Given the description of an element on the screen output the (x, y) to click on. 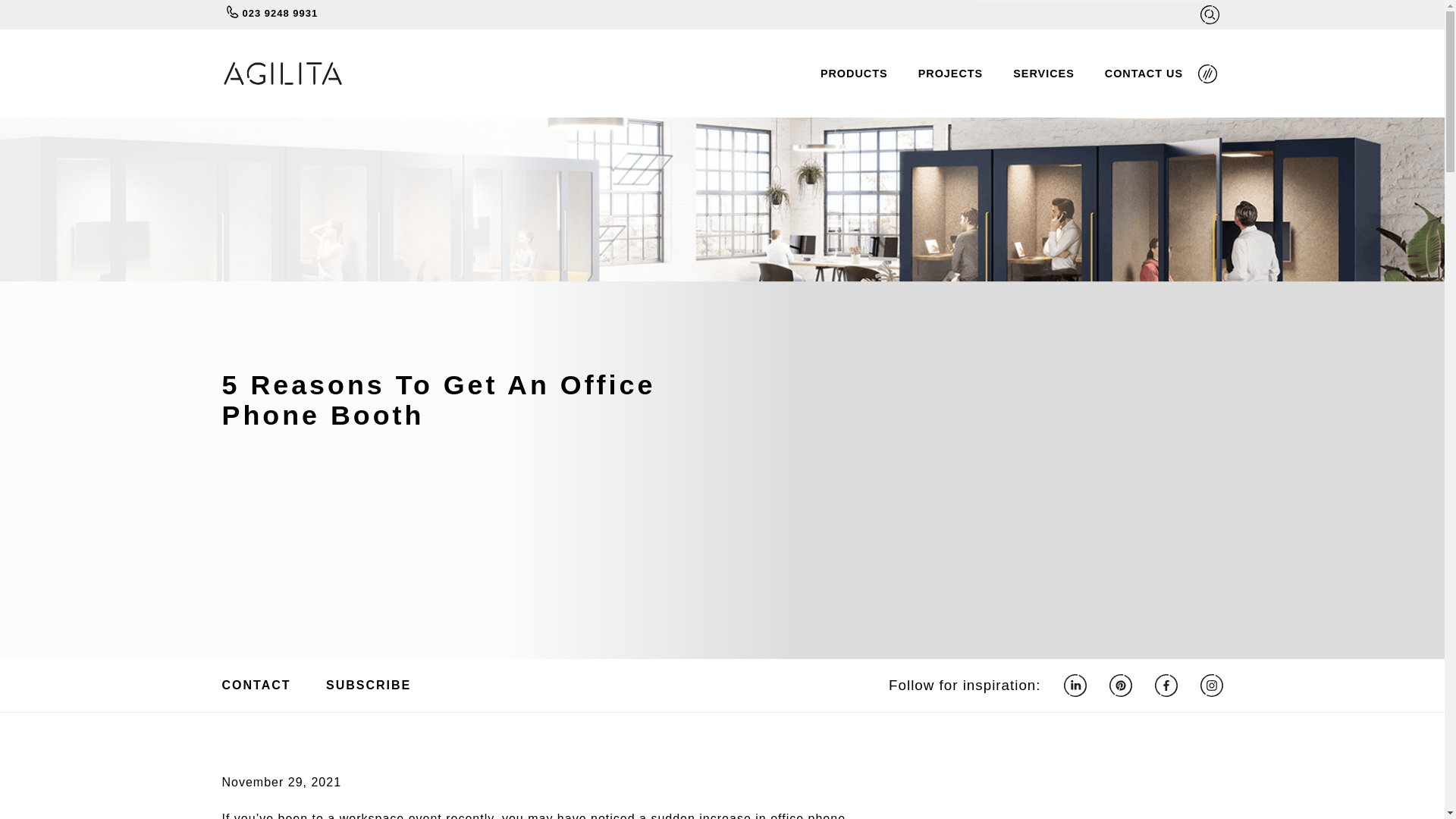
023 9248 9931 (346, 14)
PRODUCTS (853, 72)
SUBSCRIBE (368, 684)
PROJECTS (950, 72)
CONTACT (258, 684)
CONTACT US (1143, 72)
SERVICES (1043, 72)
